Given the description of an element on the screen output the (x, y) to click on. 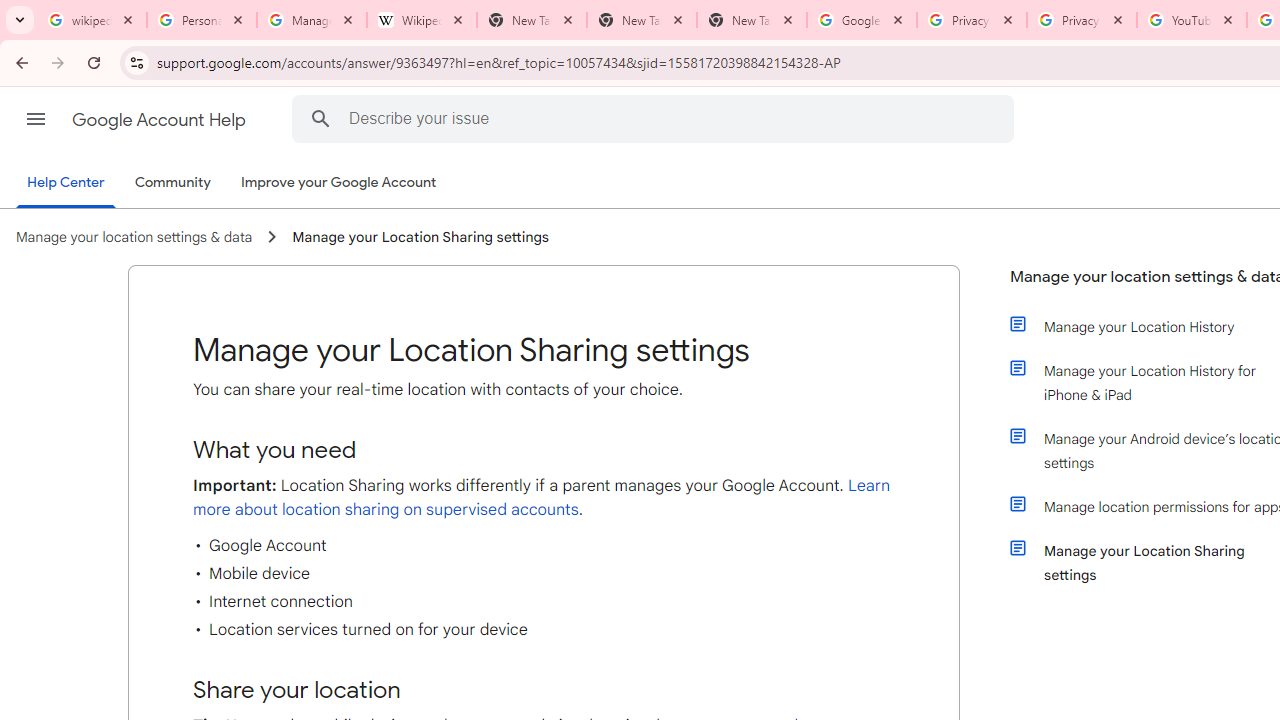
Describe your issue (655, 118)
Google Drive: Sign-in (861, 20)
Learn more about location sharing on supervised accounts (541, 497)
Community (171, 183)
Google Account Help (160, 119)
Improve your Google Account (339, 183)
Manage your Location Sharing settings (420, 237)
New Tab (642, 20)
Personalization & Google Search results - Google Search Help (202, 20)
